Given the description of an element on the screen output the (x, y) to click on. 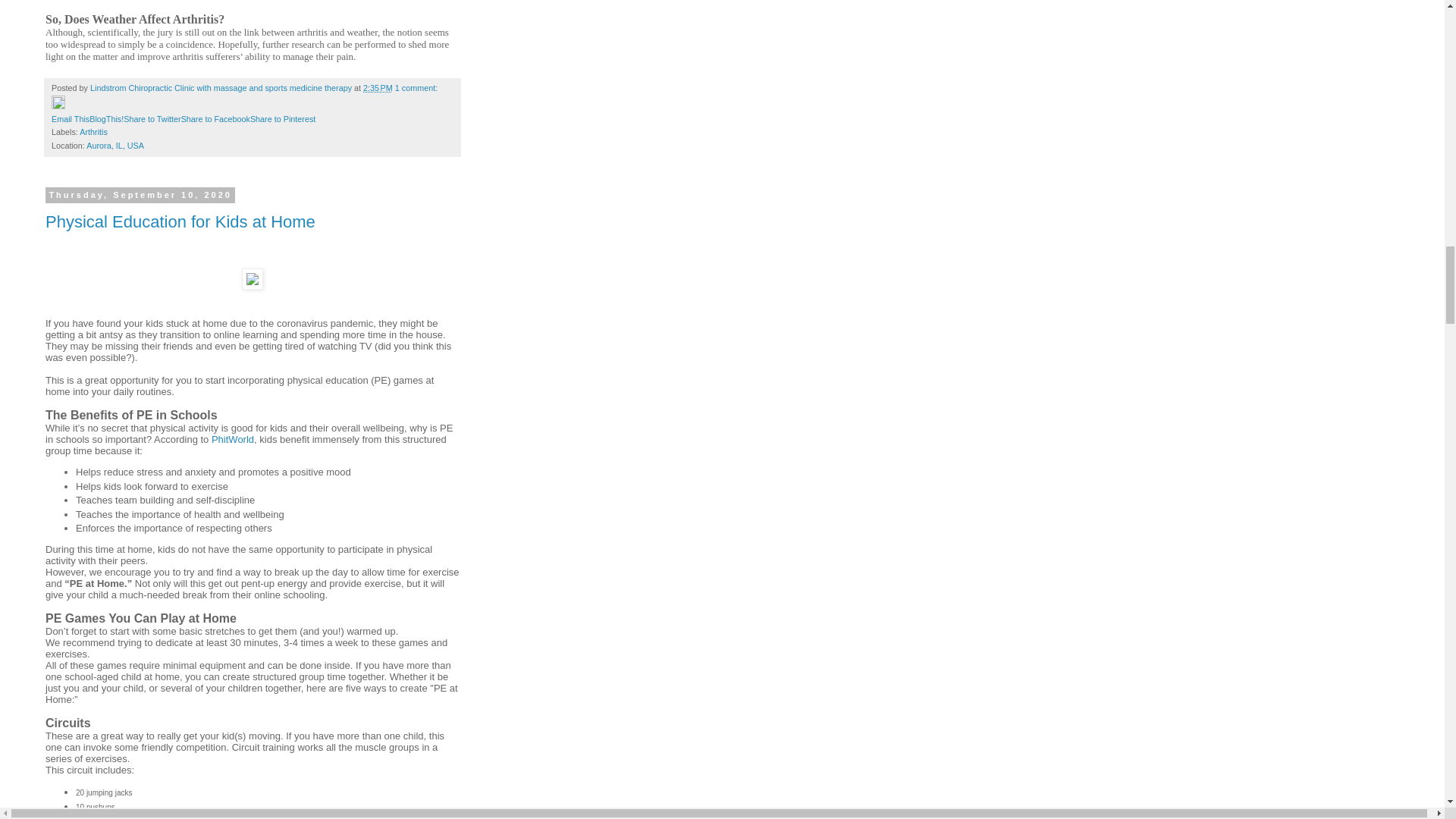
author profile (221, 87)
Arthritis (93, 131)
Aurora, IL, USA (114, 144)
Email This (69, 118)
Share to Facebook (215, 118)
Share to Pinterest (282, 118)
Edit Post (57, 105)
Share to Twitter (151, 118)
BlogThis! (105, 118)
permanent link (377, 87)
Share to Facebook (215, 118)
Email This (69, 118)
1 comment: (416, 87)
BlogThis! (105, 118)
